Given the description of an element on the screen output the (x, y) to click on. 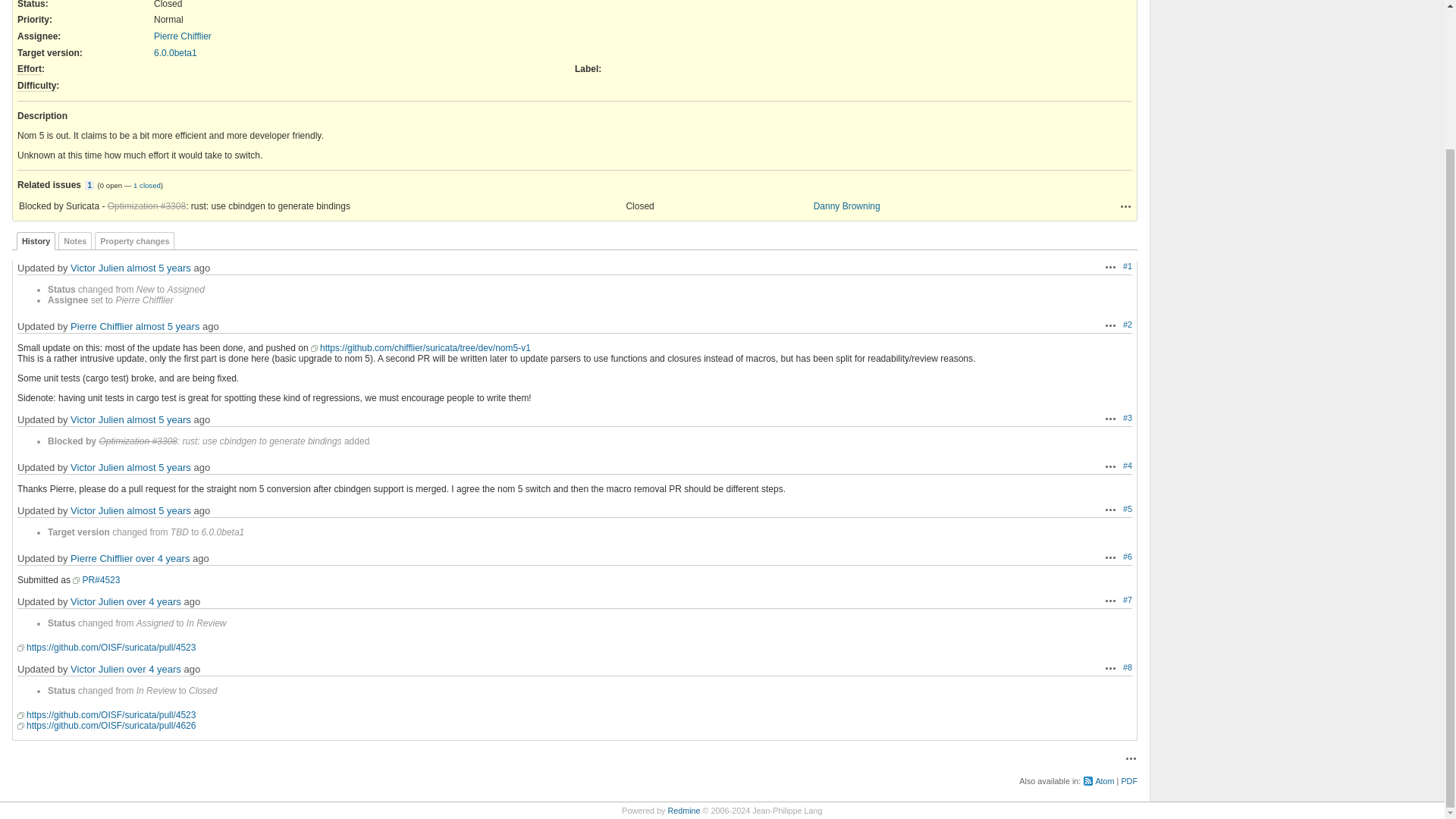
Pierre Chifflier (182, 36)
Danny Browning (846, 205)
6.0.0beta1 (175, 52)
The effort that is to be expected to work on the issue (29, 69)
Actions (1110, 557)
Notes (74, 240)
Actions (1110, 418)
Actions (1125, 205)
Victor Julien (96, 267)
1 closed (146, 184)
Actions (1125, 205)
Actions (1110, 466)
Property changes (134, 240)
Actions (1110, 266)
